Given the description of an element on the screen output the (x, y) to click on. 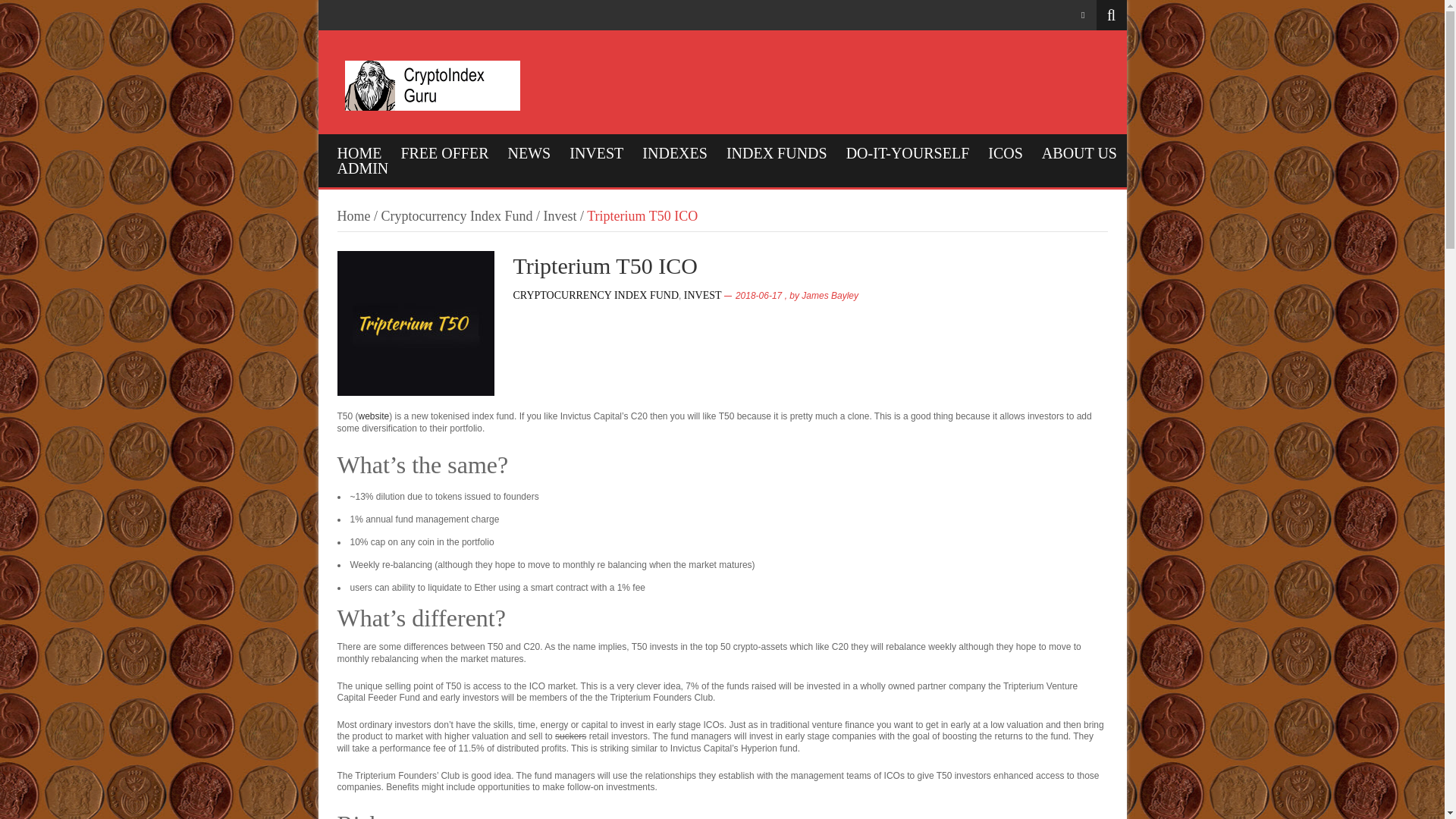
CRYPTOCURRENCY INDEX FUND (595, 295)
Home (352, 215)
FREE OFFER (443, 152)
Invest (559, 215)
HOME (358, 152)
website (374, 416)
ABOUT US (1079, 152)
INVEST (596, 152)
INDEXES (674, 152)
INDEX FUNDS (776, 152)
